Given the description of an element on the screen output the (x, y) to click on. 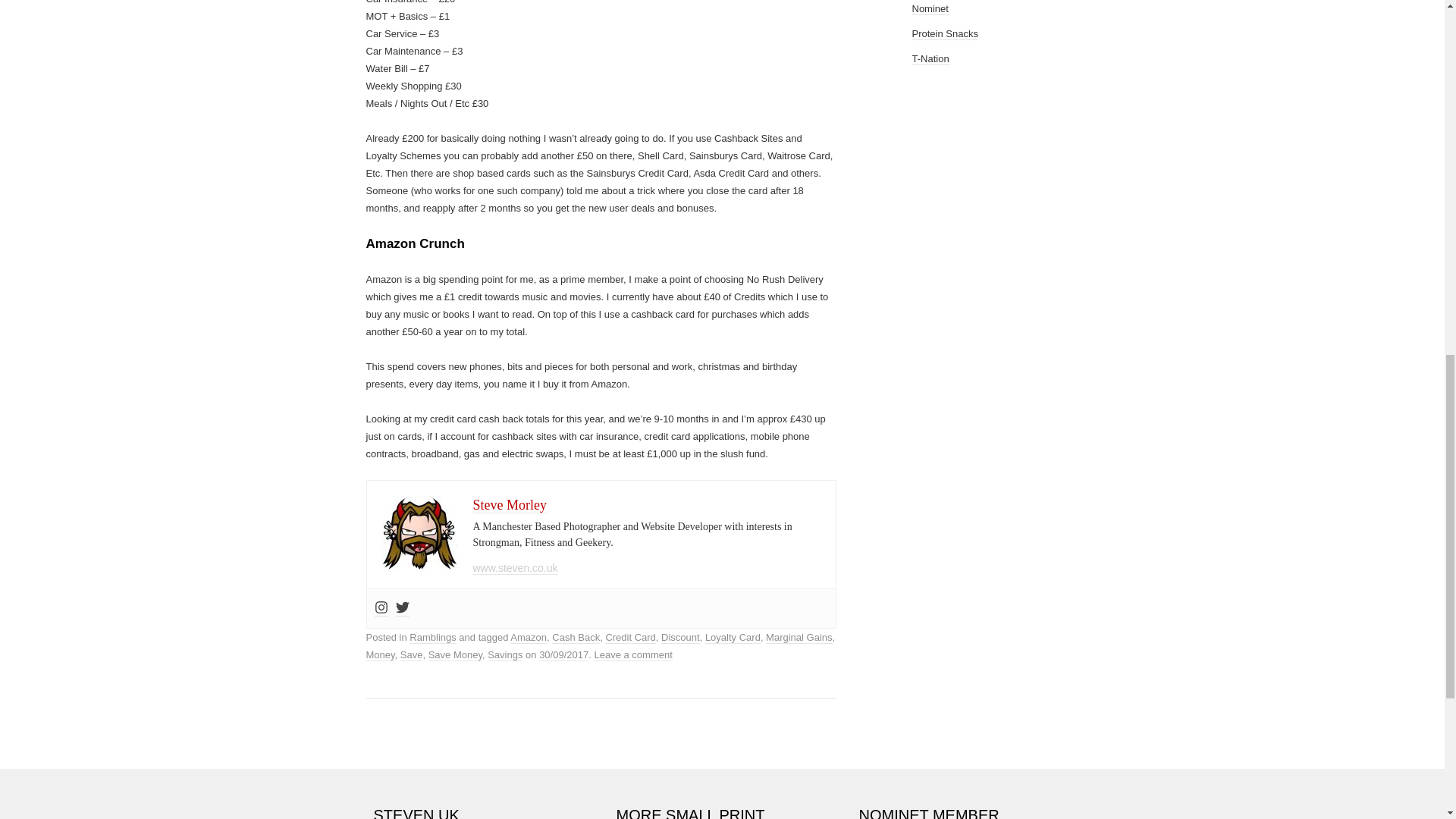
www.steven.co.uk (515, 567)
Savings (504, 654)
Steve Morley (510, 505)
Amazon (529, 637)
Leave a comment (632, 654)
Discount (680, 637)
Credit Card (630, 637)
Save Money (454, 654)
Marginal Gains (798, 637)
14:15 (563, 654)
Cash Back (575, 637)
Loyalty Card (732, 637)
Money (379, 654)
Save (411, 654)
Ramblings (432, 637)
